Given the description of an element on the screen output the (x, y) to click on. 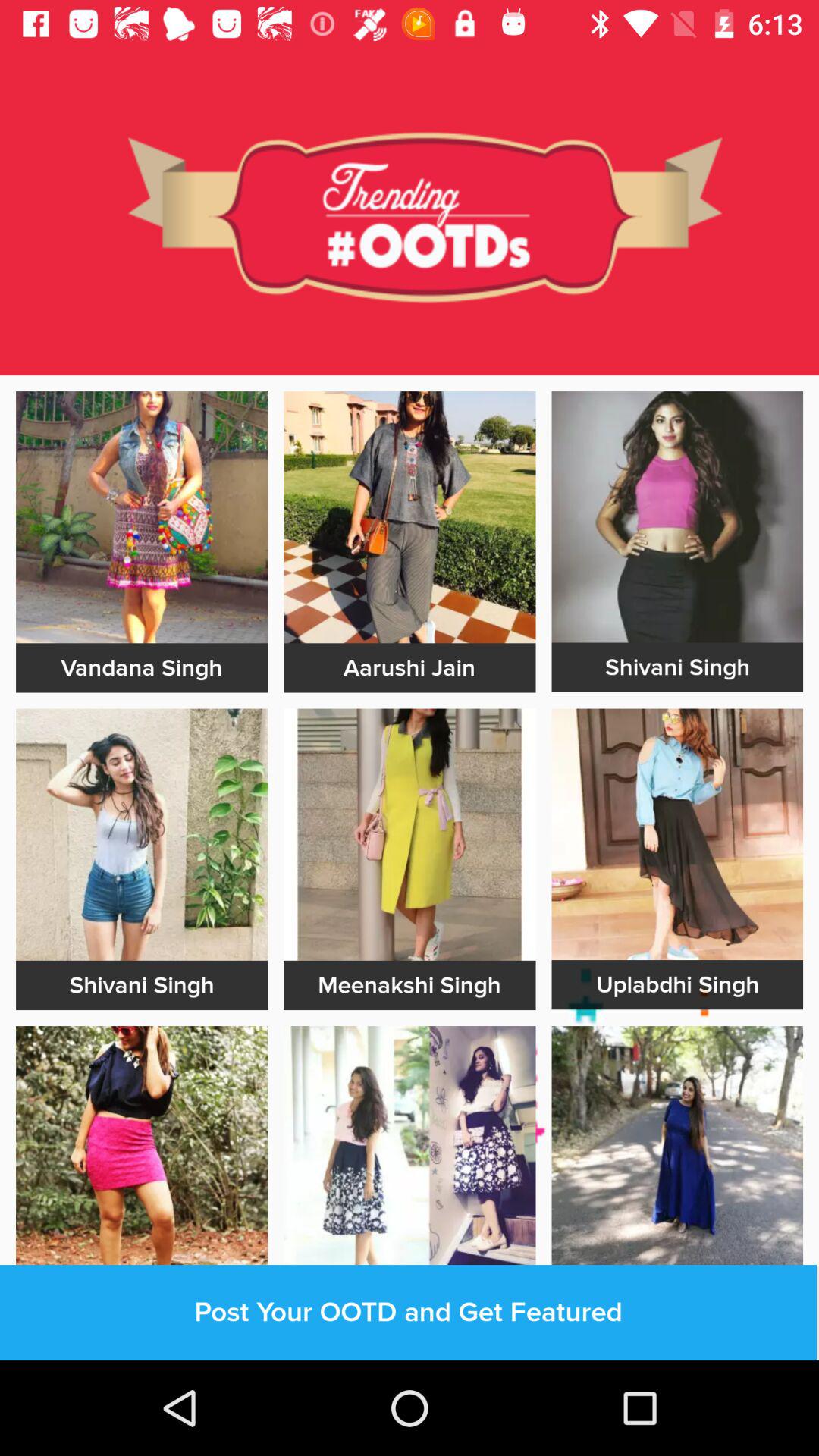
advatisment (409, 834)
